Given the description of an element on the screen output the (x, y) to click on. 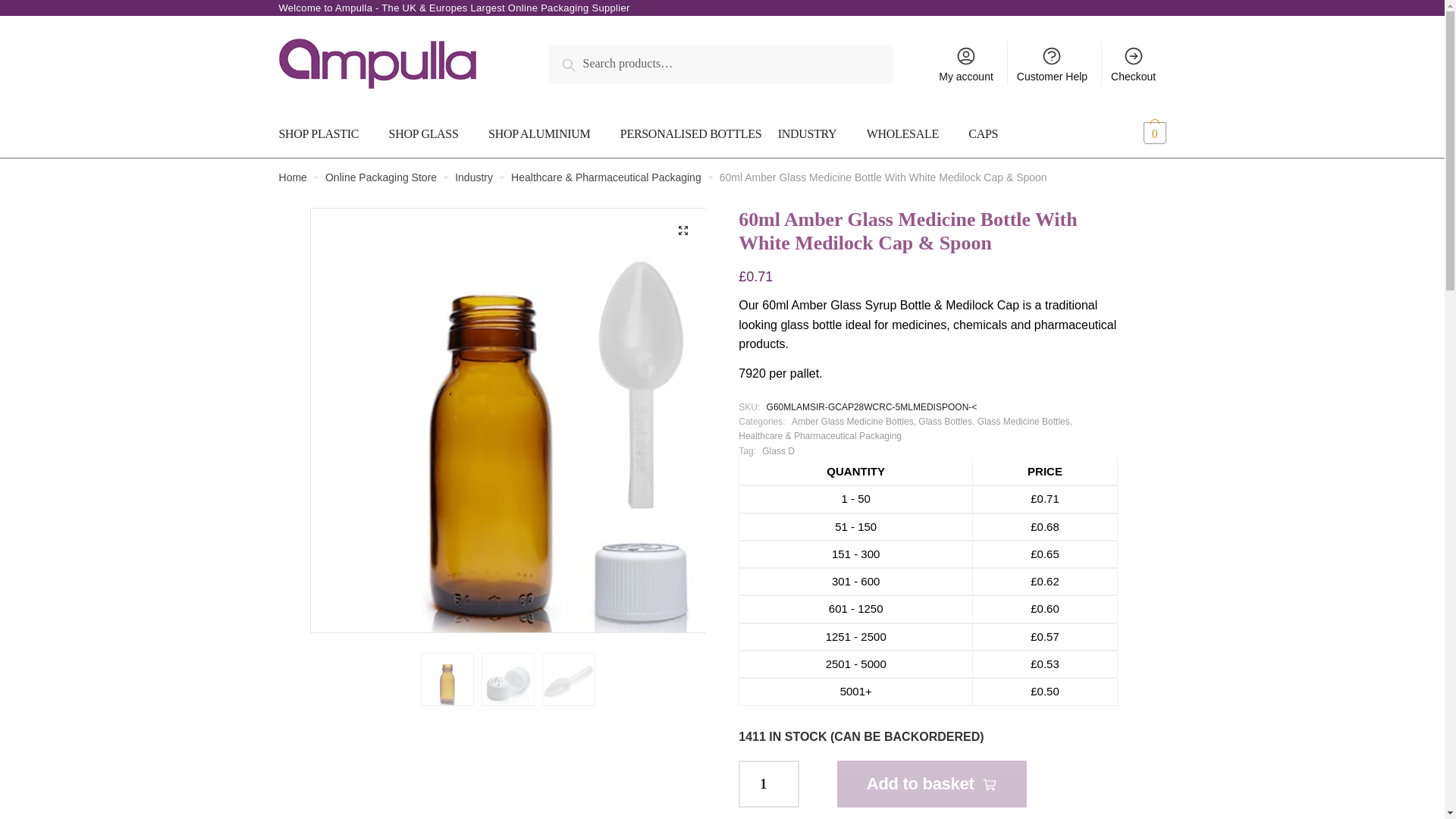
SHOP PLASTIC (328, 134)
My account (966, 63)
View your shopping cart (1131, 134)
Checkout (1134, 63)
Search (583, 62)
1 (768, 783)
Customer Help (1052, 63)
